Given the description of an element on the screen output the (x, y) to click on. 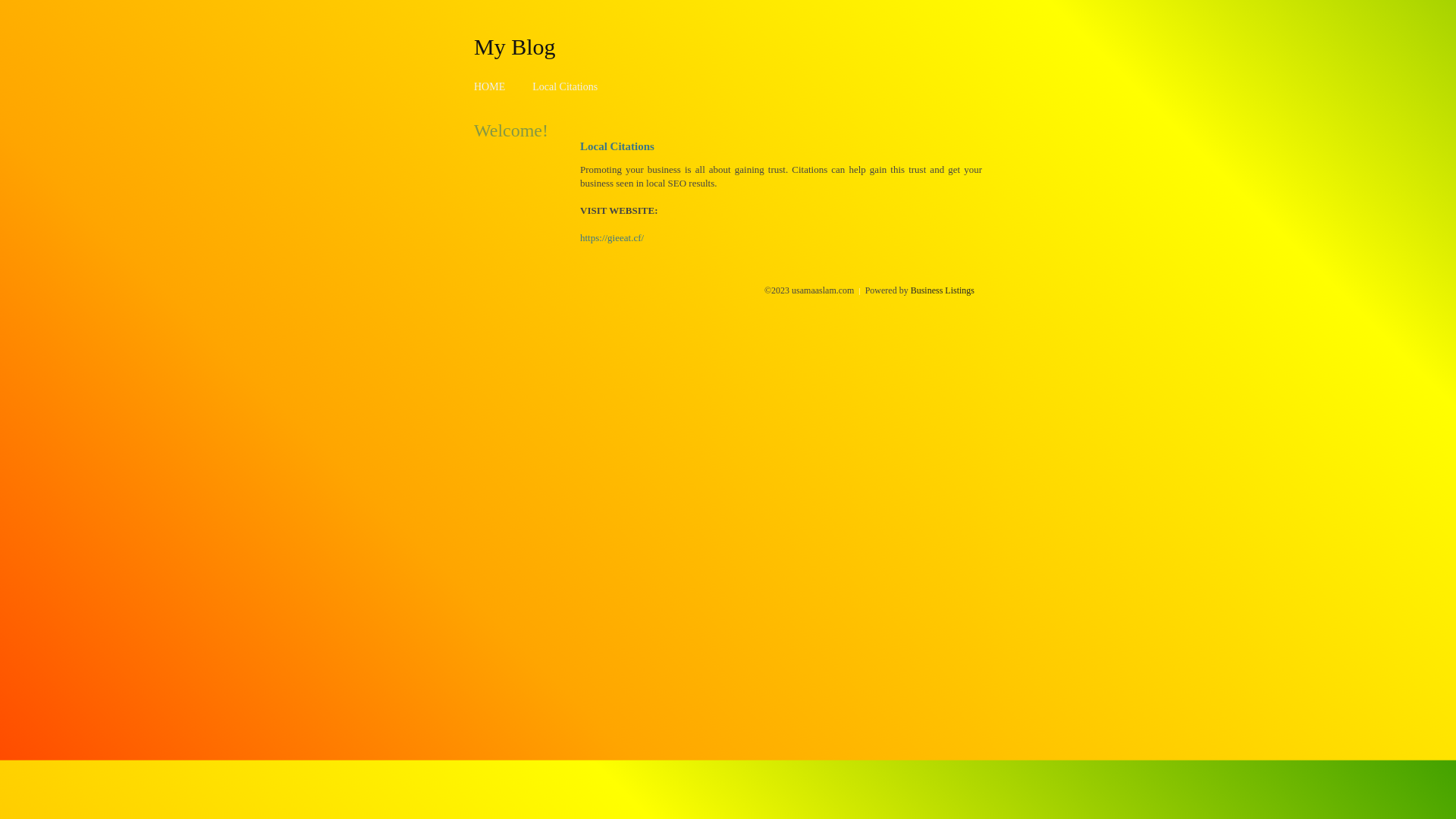
Business Listings Element type: text (942, 290)
https://gieeat.cf/ Element type: text (611, 237)
Local Citations Element type: text (564, 86)
HOME Element type: text (489, 86)
My Blog Element type: text (514, 46)
